Given the description of an element on the screen output the (x, y) to click on. 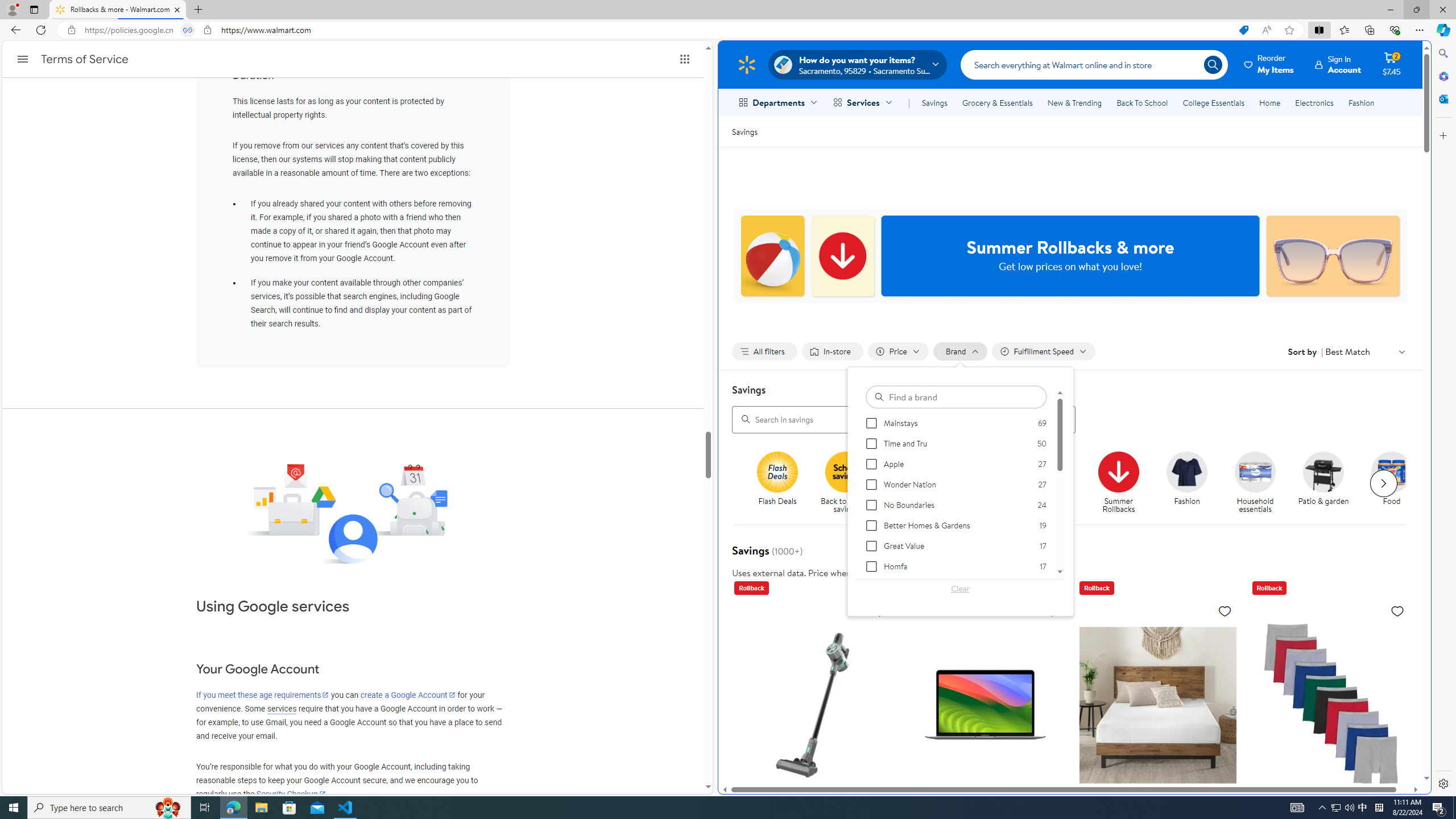
Flash deals (777, 471)
ReorderMy Items (1269, 64)
Savings (744, 131)
Address and search bar (658, 29)
Back To School (1141, 102)
Back to College savings (913, 471)
Fashion (1186, 471)
Rollbacks & more - Walmart.com (117, 9)
This site has coupons! Shopping in Microsoft Edge, 7 (1243, 29)
College Essentials (1213, 102)
Reorder My Items (1269, 64)
